Given the description of an element on the screen output the (x, y) to click on. 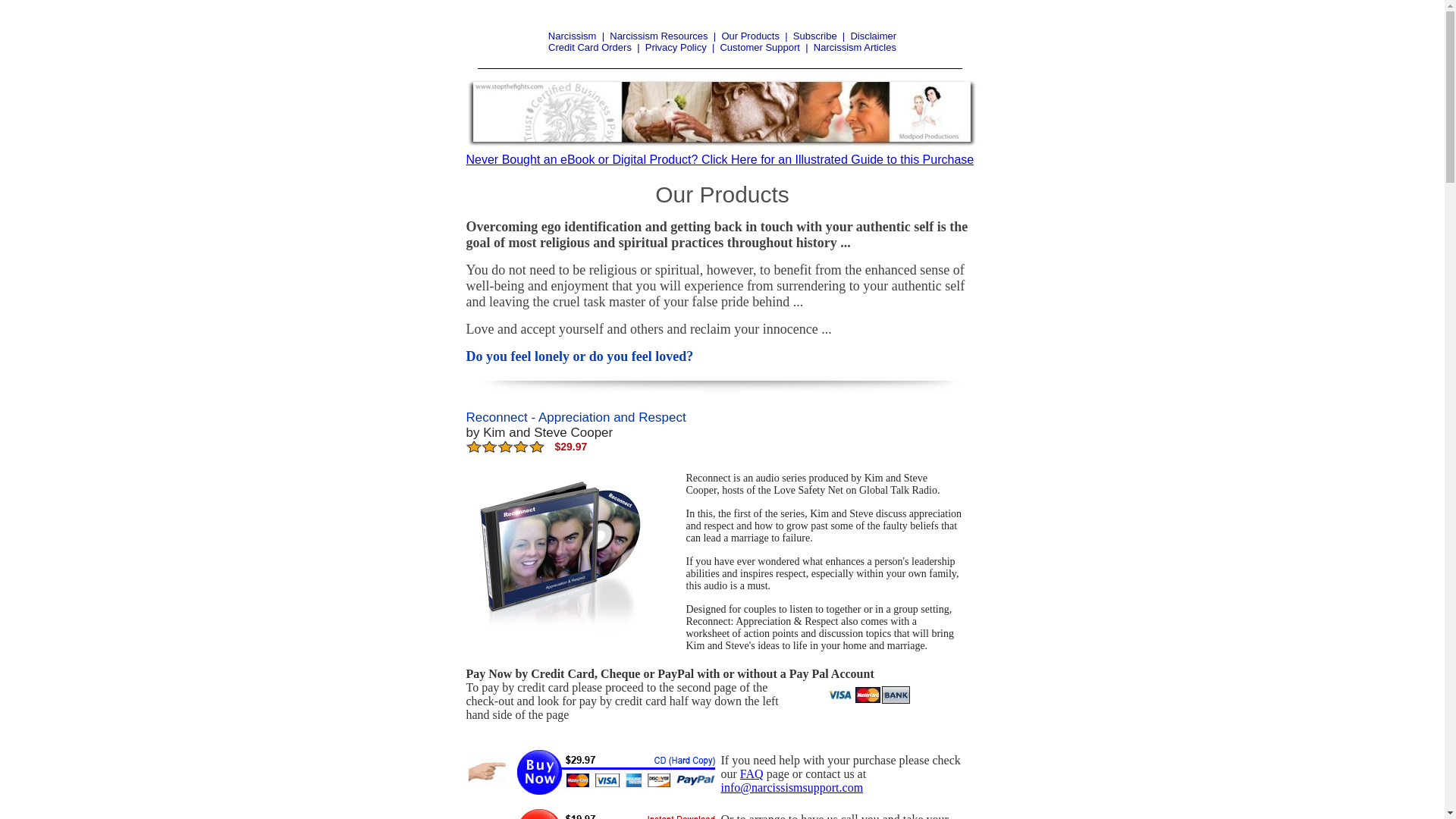
info@narcissismsupport.com Element type: text (791, 787)
Customer Support Element type: text (759, 47)
Privacy Policy Element type: text (675, 47)
Narcissism Articles Element type: text (854, 47)
FAQ Element type: text (751, 773)
Narcissism Element type: text (572, 35)
Credit Card Orders Element type: text (589, 47)
Subscribe Element type: text (815, 35)
Narcissism Resources Element type: text (658, 35)
Disclaimer Element type: text (873, 35)
Our Products Element type: text (750, 35)
